Given the description of an element on the screen output the (x, y) to click on. 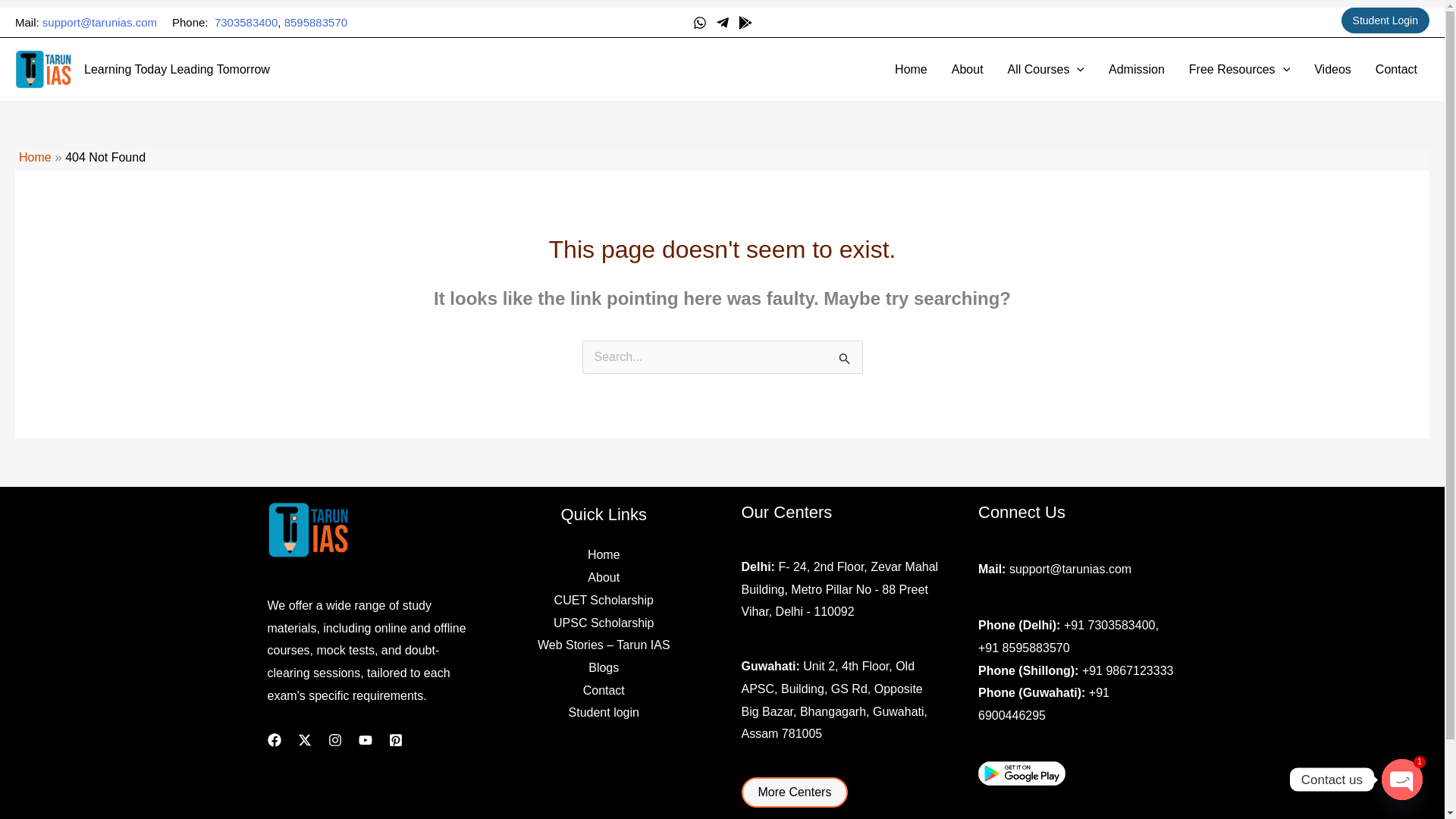
Contact (1395, 69)
Free Resources (1238, 69)
Videos (1331, 69)
7303583400 (246, 21)
Student Login (1384, 20)
8595883570 (315, 21)
All Courses (1045, 69)
About (967, 69)
Admission (1136, 69)
Home (34, 156)
